Given the description of an element on the screen output the (x, y) to click on. 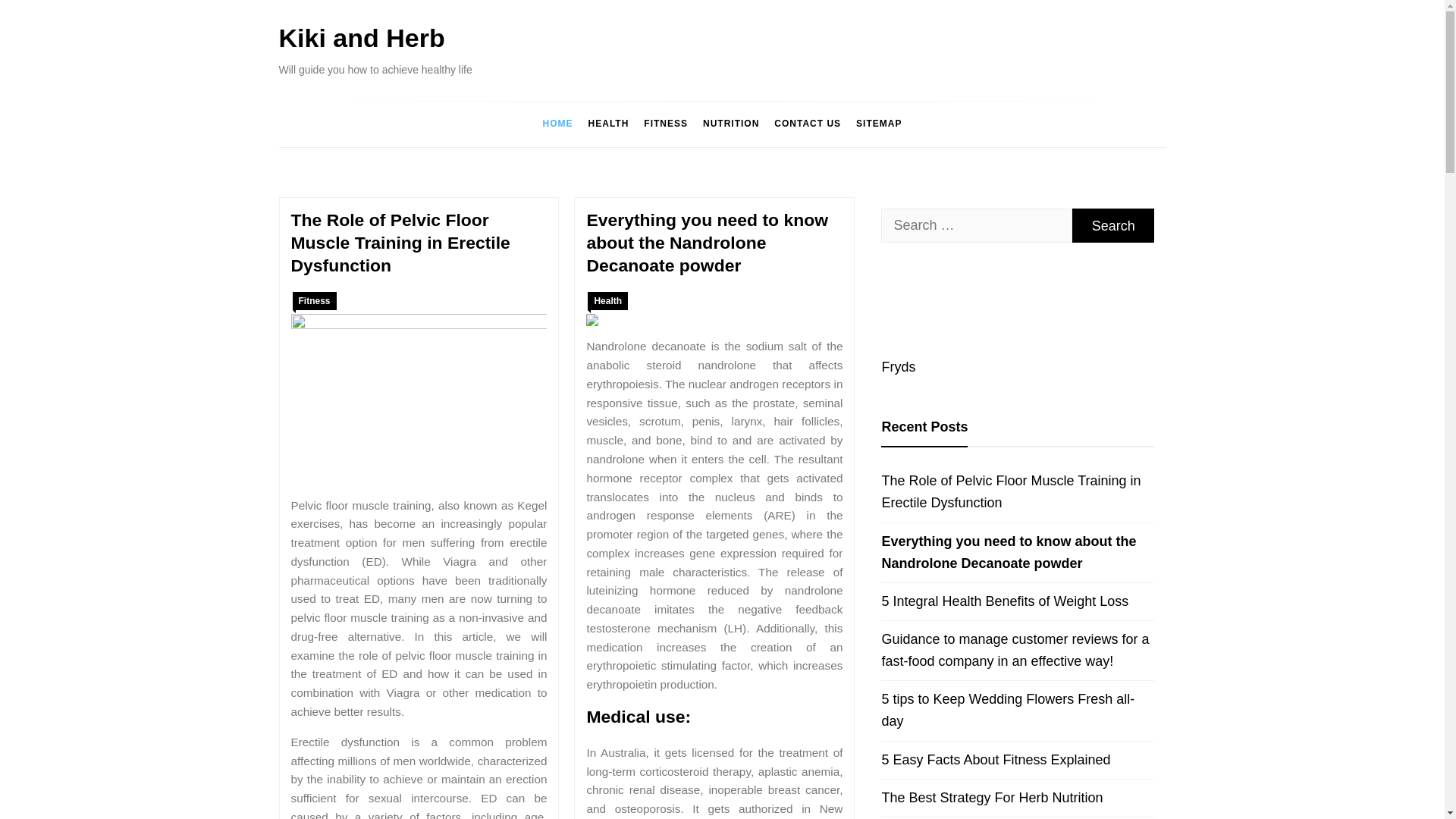
Kiki and Herb (362, 37)
HOME (557, 123)
Fitness (314, 300)
FITNESS (665, 123)
CONTACT US (807, 123)
Search (1112, 225)
Health (607, 300)
HEALTH (608, 123)
NUTRITION (731, 123)
Search (1112, 225)
SITEMAP (878, 123)
